Given the description of an element on the screen output the (x, y) to click on. 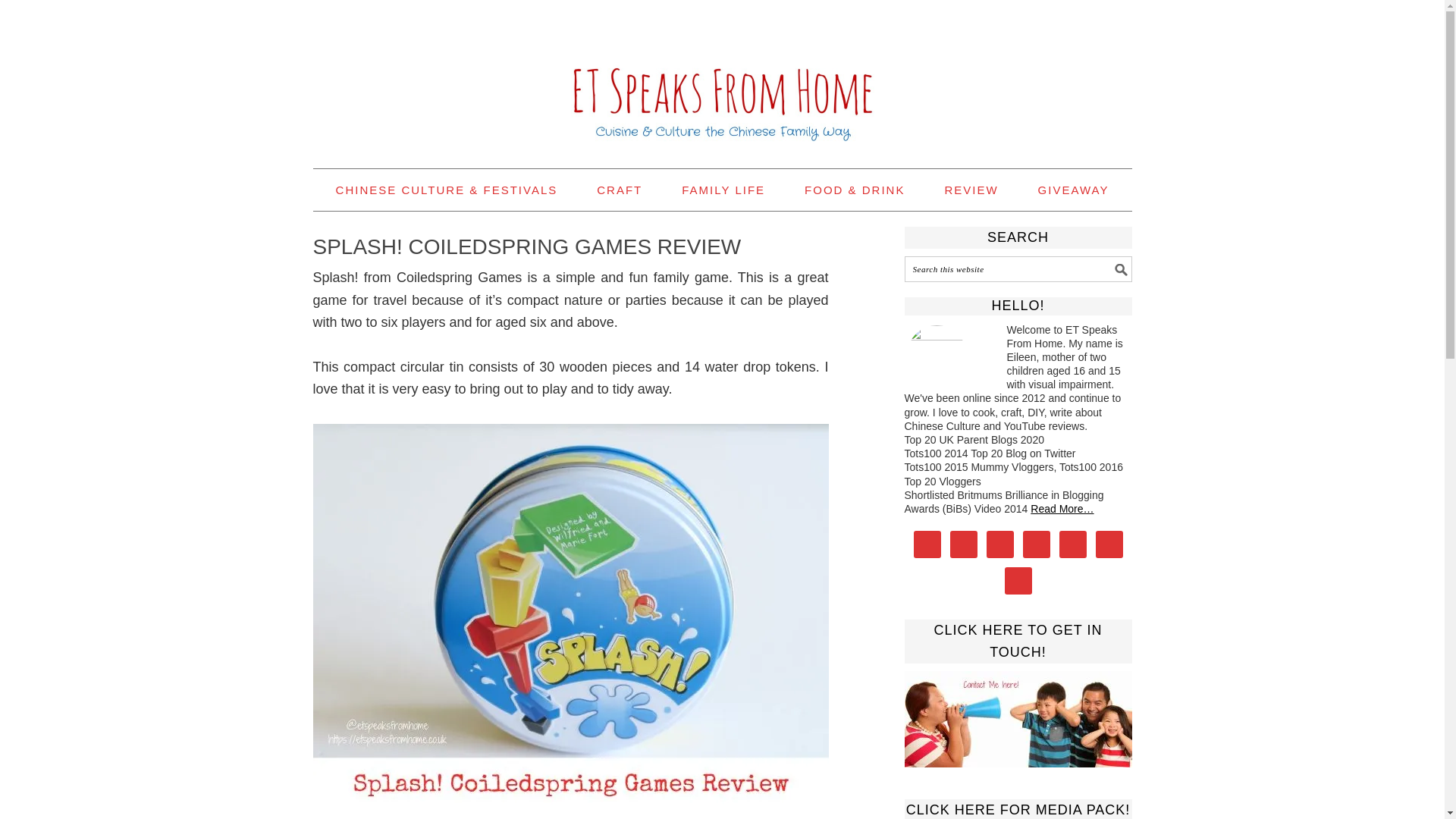
REVIEW (970, 189)
Click here to get in touch! (1017, 718)
ET SPEAKS FROM HOME (722, 77)
FAMILY LIFE (723, 189)
CRAFT (619, 189)
